Given the description of an element on the screen output the (x, y) to click on. 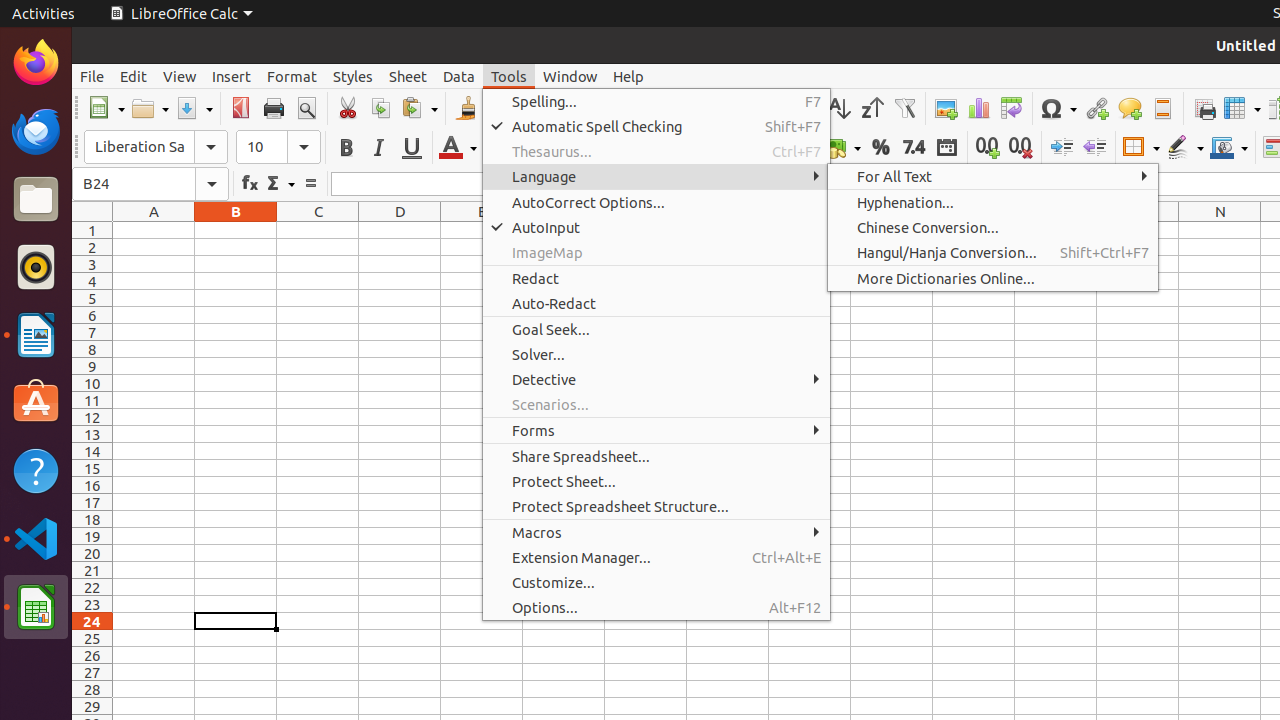
Name Box Element type: text (133, 184)
Detective Element type: menu (656, 379)
Font Size Element type: text (261, 147)
Redact Element type: menu-item (656, 278)
Goal Seek... Element type: menu-item (656, 329)
